Given the description of an element on the screen output the (x, y) to click on. 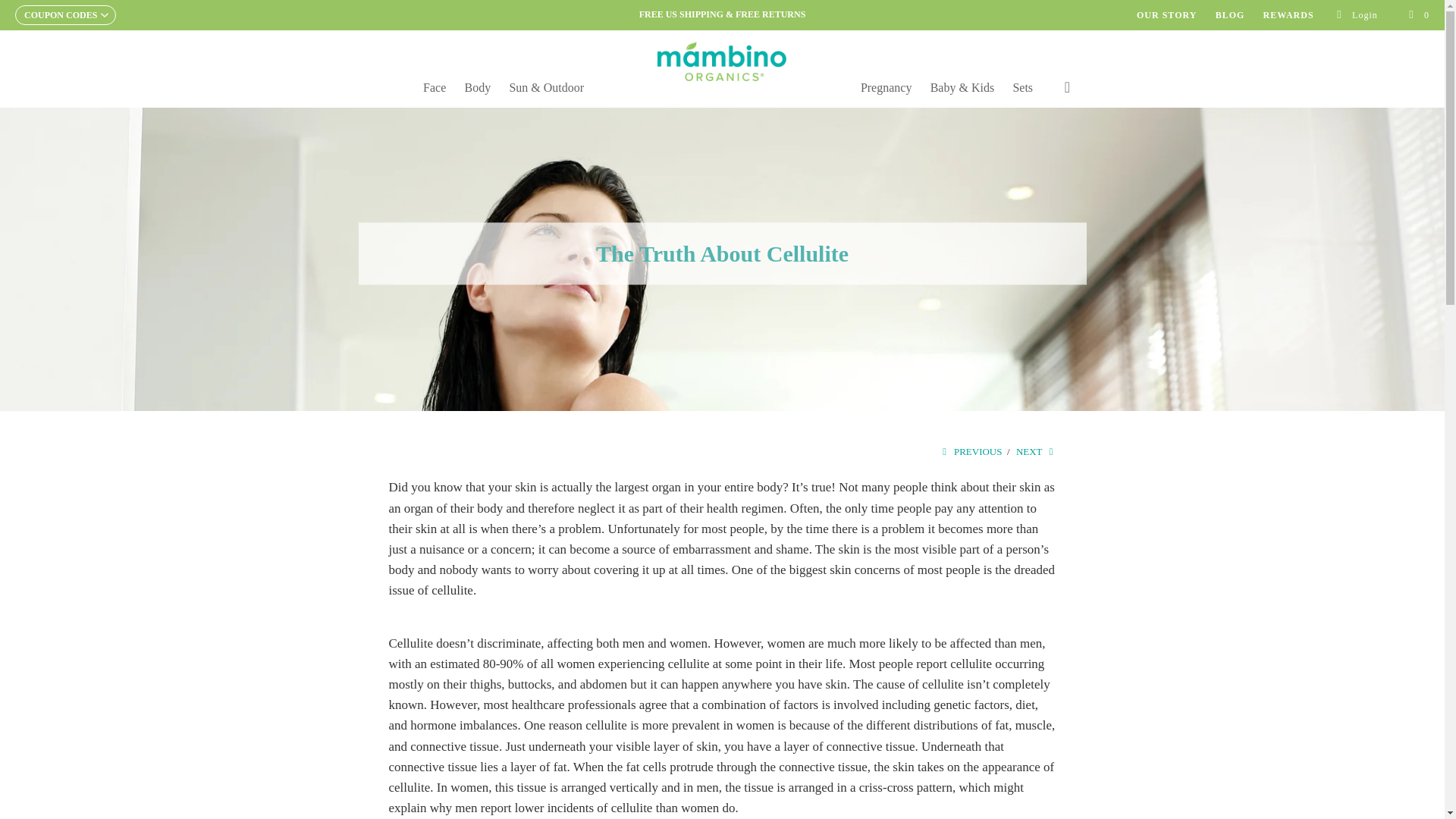
Login (1356, 15)
OUR STORY (1166, 15)
My Account  (1356, 15)
BLOG (1229, 15)
REWARDS (1288, 15)
Mambino Organics (722, 61)
